Given the description of an element on the screen output the (x, y) to click on. 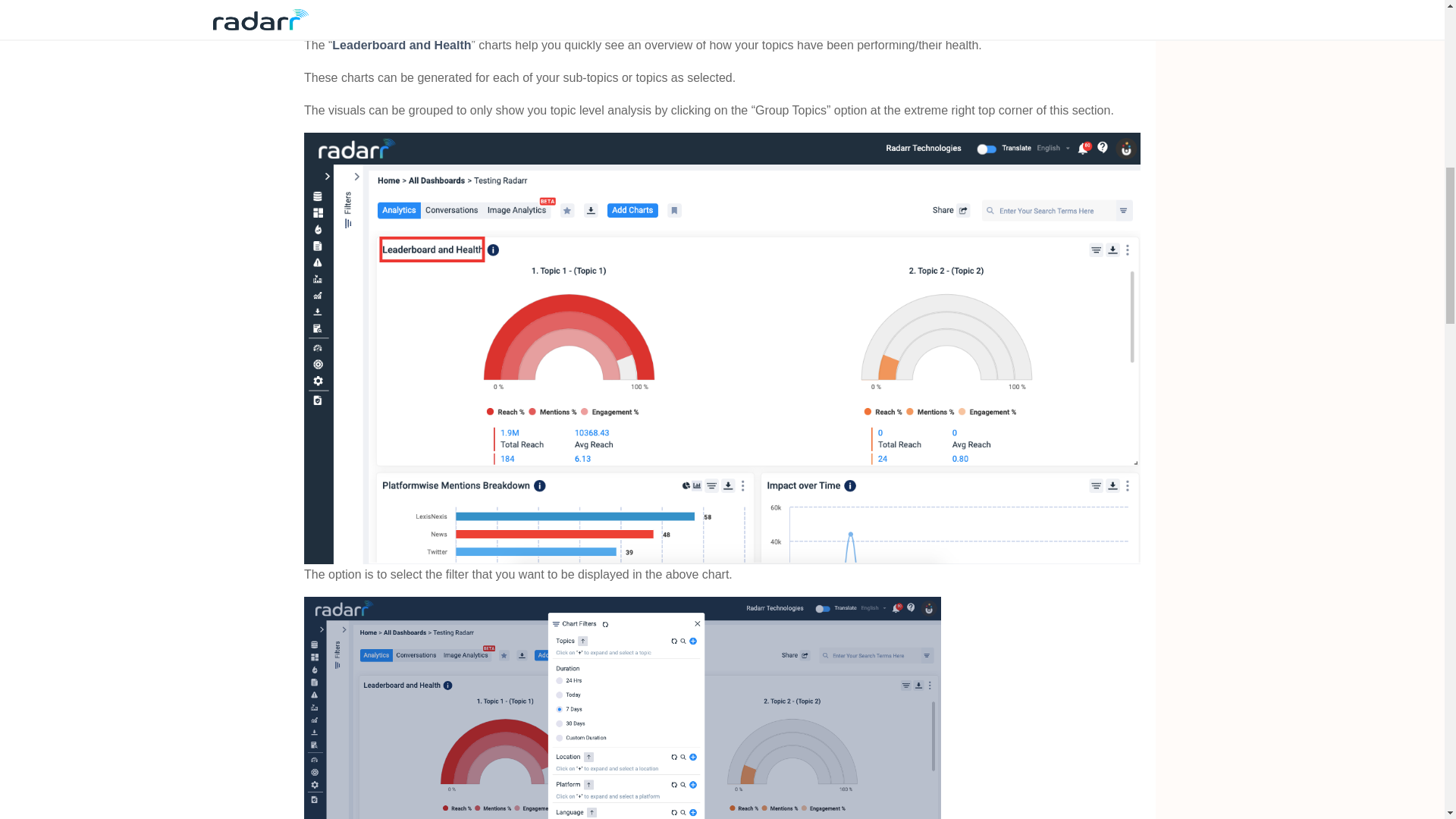
Radarr Leaderboard (722, 17)
